Given the description of an element on the screen output the (x, y) to click on. 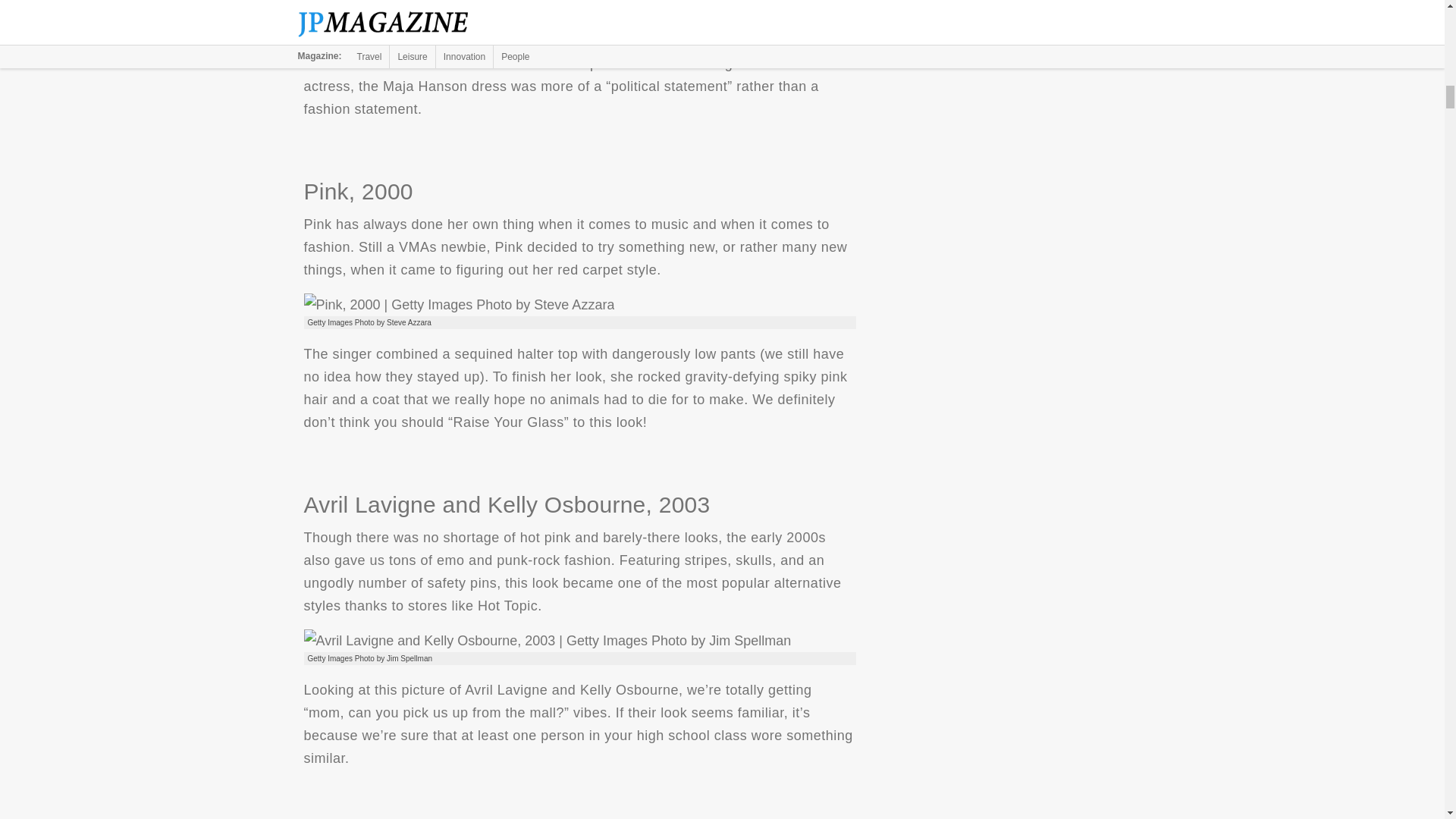
Avril Lavigne and Kelly Osbourne, 2003 (546, 640)
Pink, 2000 (458, 304)
